Given the description of an element on the screen output the (x, y) to click on. 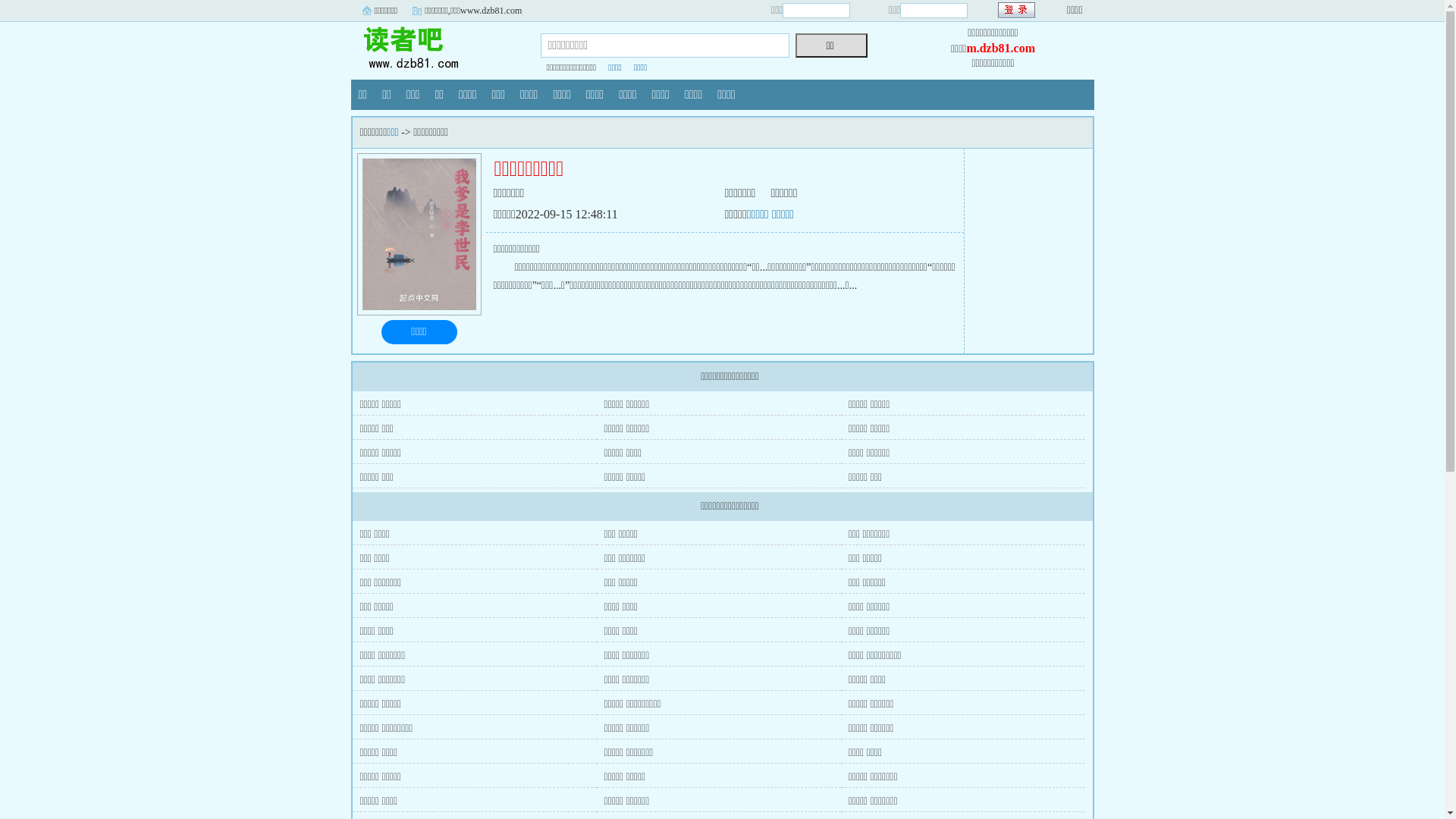
  Element type: text (1016, 10)
m.dzb81.com Element type: text (1000, 47)
